Given the description of an element on the screen output the (x, y) to click on. 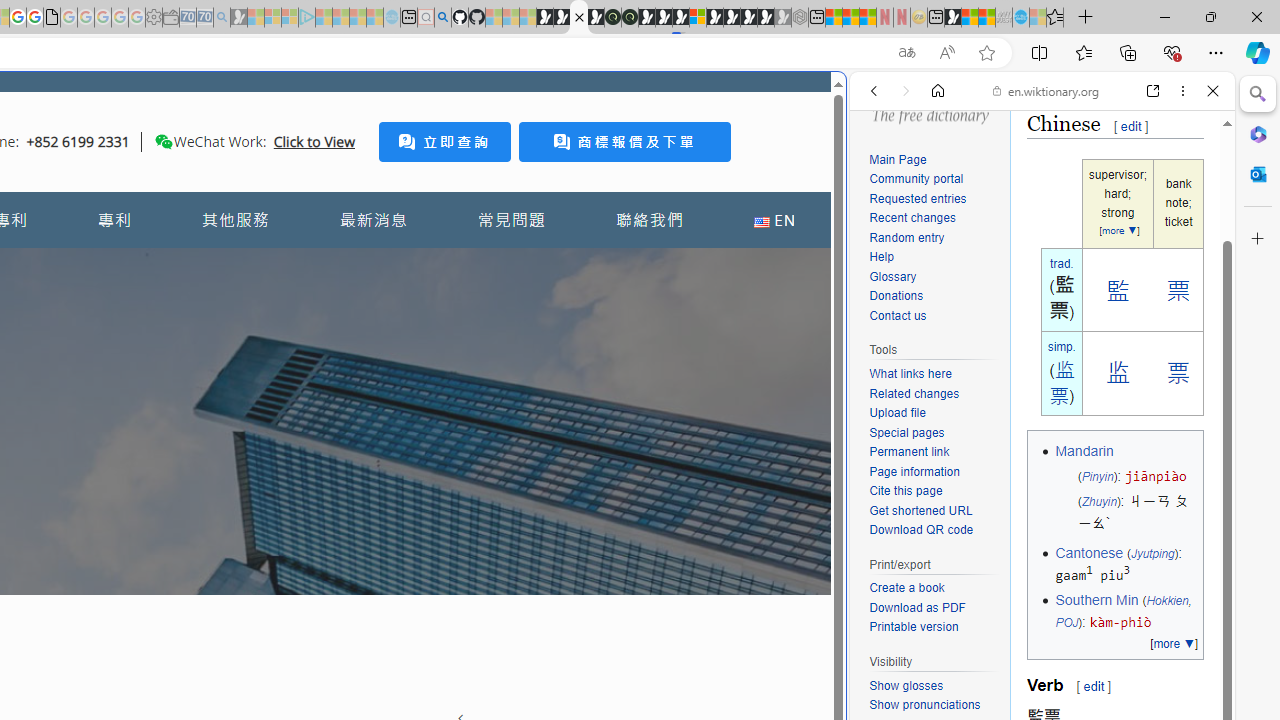
Glossary (892, 276)
EN (774, 220)
POJ (1066, 623)
Download as PDF (917, 606)
Contact us (897, 315)
